Given the description of an element on the screen output the (x, y) to click on. 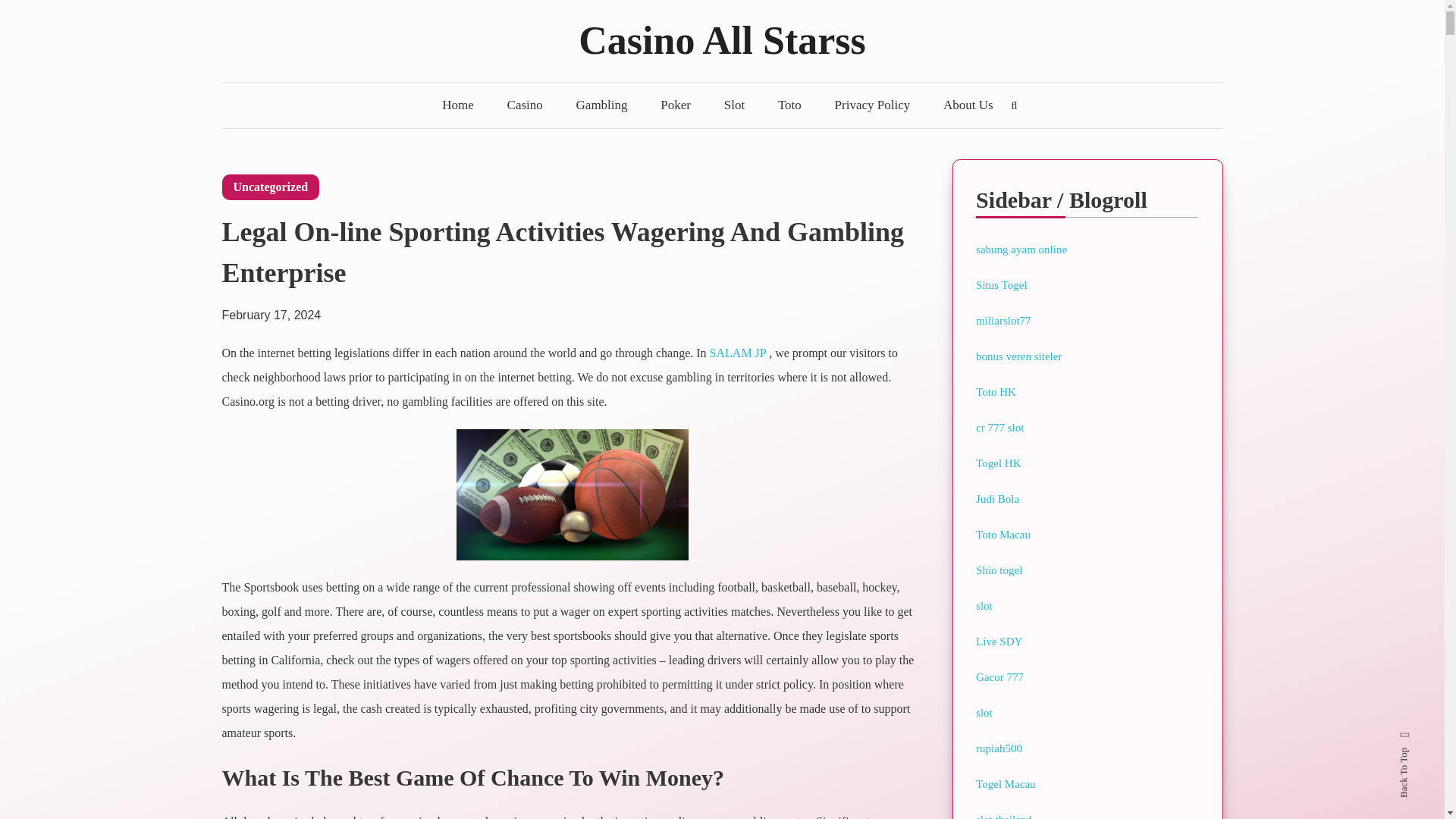
Casino (524, 104)
Live SDY (998, 641)
rupiah500 (998, 748)
Casino All Starss (722, 40)
Home (457, 104)
Situs Togel (1000, 285)
SALAM JP (738, 352)
Privacy Policy (872, 104)
February 17, 2024 (270, 307)
Shio togel (998, 570)
Gambling (601, 104)
Togel HK (997, 463)
cr 777 slot (999, 427)
bonus veren siteler (1018, 356)
Toto Macau (1002, 534)
